Given the description of an element on the screen output the (x, y) to click on. 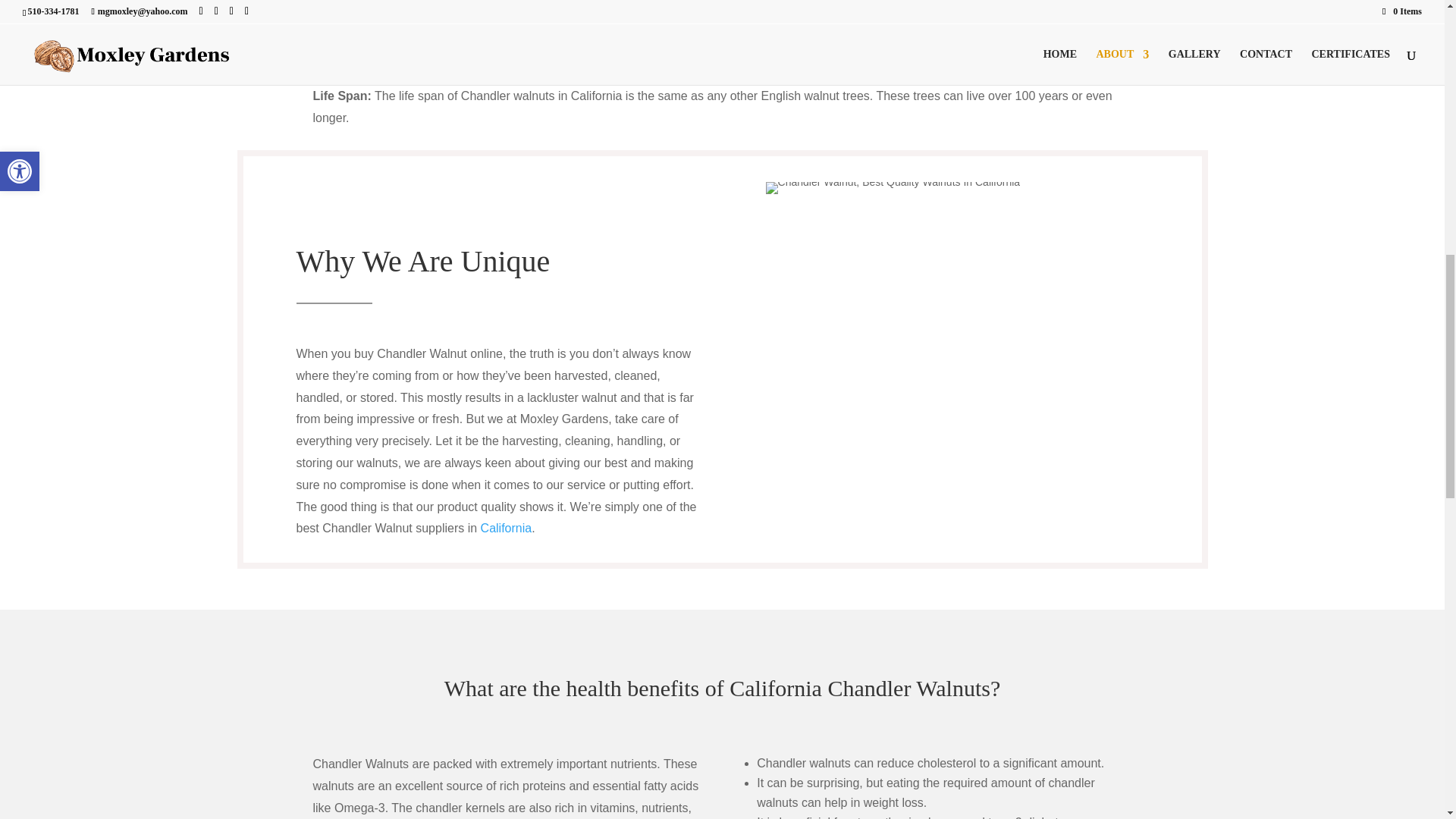
Best Quality Walnuts in California (892, 187)
California (506, 527)
